Given the description of an element on the screen output the (x, y) to click on. 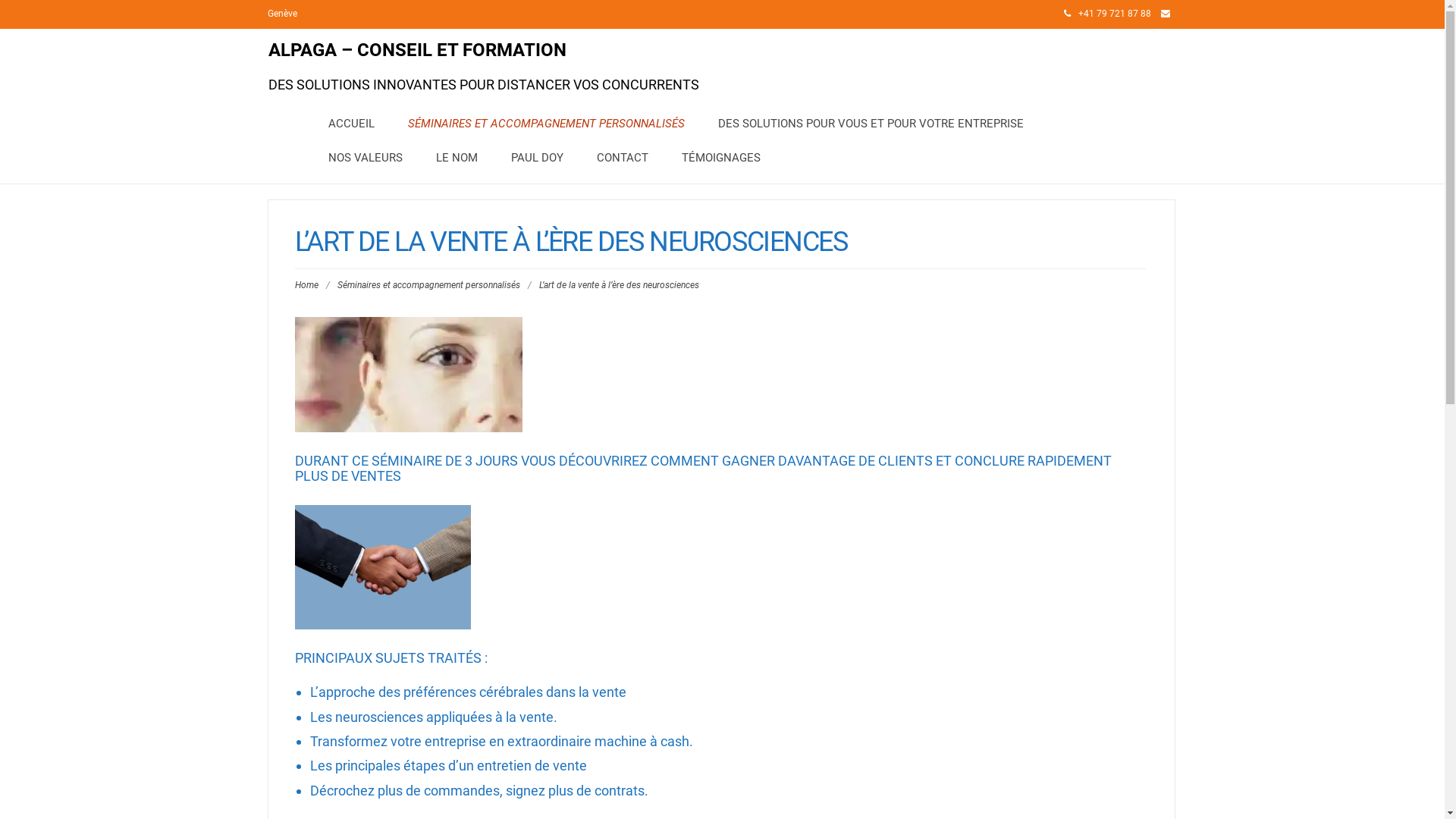
ACCUEIL Element type: text (350, 123)
LE NOM Element type: text (456, 158)
Home Element type: text (306, 284)
DES SOLUTIONS POUR VOUS ET POUR VOTRE ENTREPRISE Element type: text (870, 123)
CONTACT Element type: text (621, 158)
NOS VALEURS Element type: text (364, 158)
PAUL DOY Element type: text (536, 158)
